Given the description of an element on the screen output the (x, y) to click on. 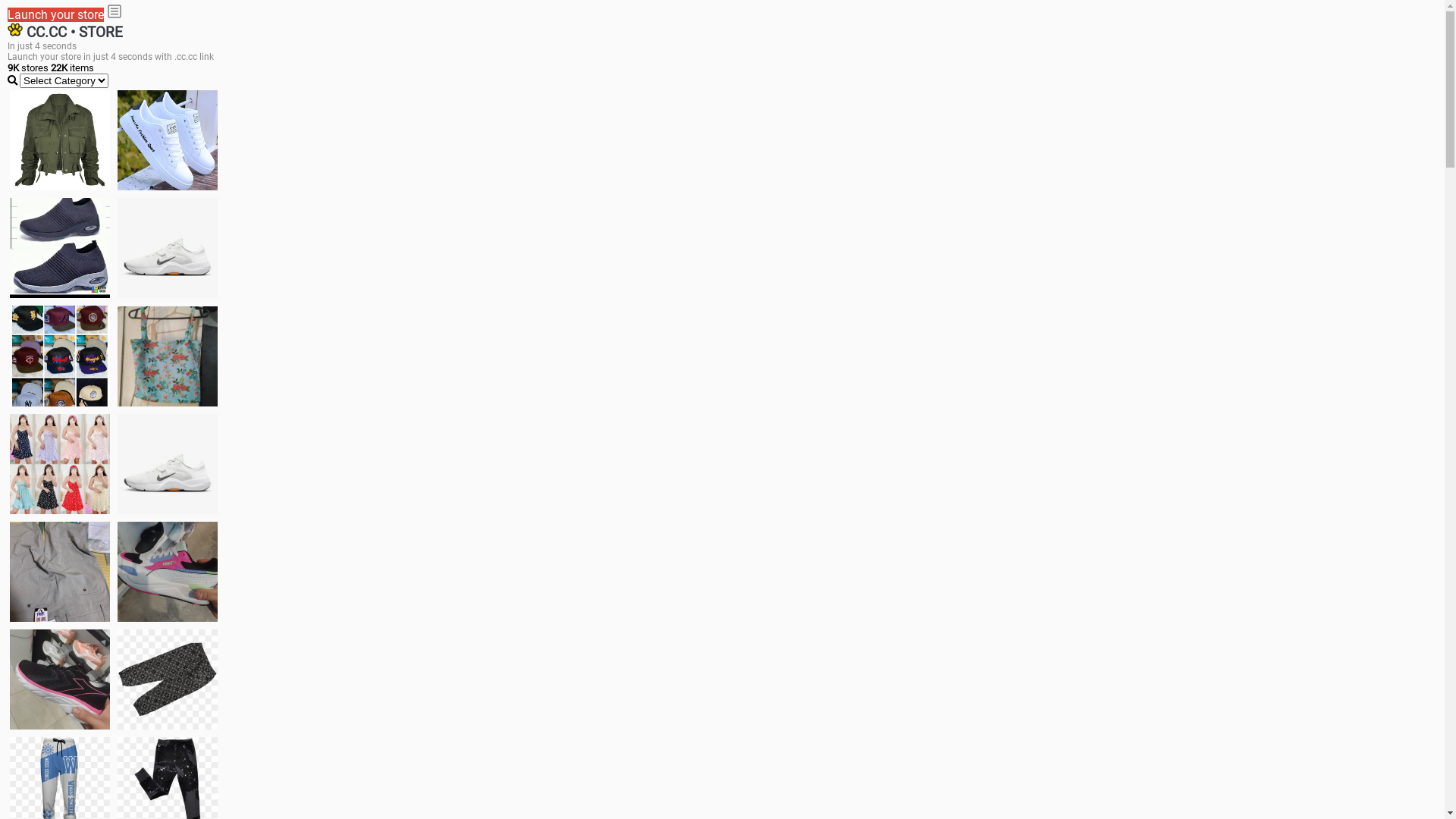
jacket Element type: hover (59, 140)
Zapatillas pumas Element type: hover (167, 571)
Short pant Element type: hover (167, 679)
Things we need Element type: hover (59, 355)
white shoes Element type: hover (167, 140)
shoes for boys Element type: hover (59, 247)
Shoes Element type: hover (167, 464)
Dress/square nect top Element type: hover (59, 464)
Launch your store Element type: text (55, 14)
Zapatillas Element type: hover (59, 679)
Shoes for boys Element type: hover (167, 247)
Ukay cloth Element type: hover (167, 356)
